Given the description of an element on the screen output the (x, y) to click on. 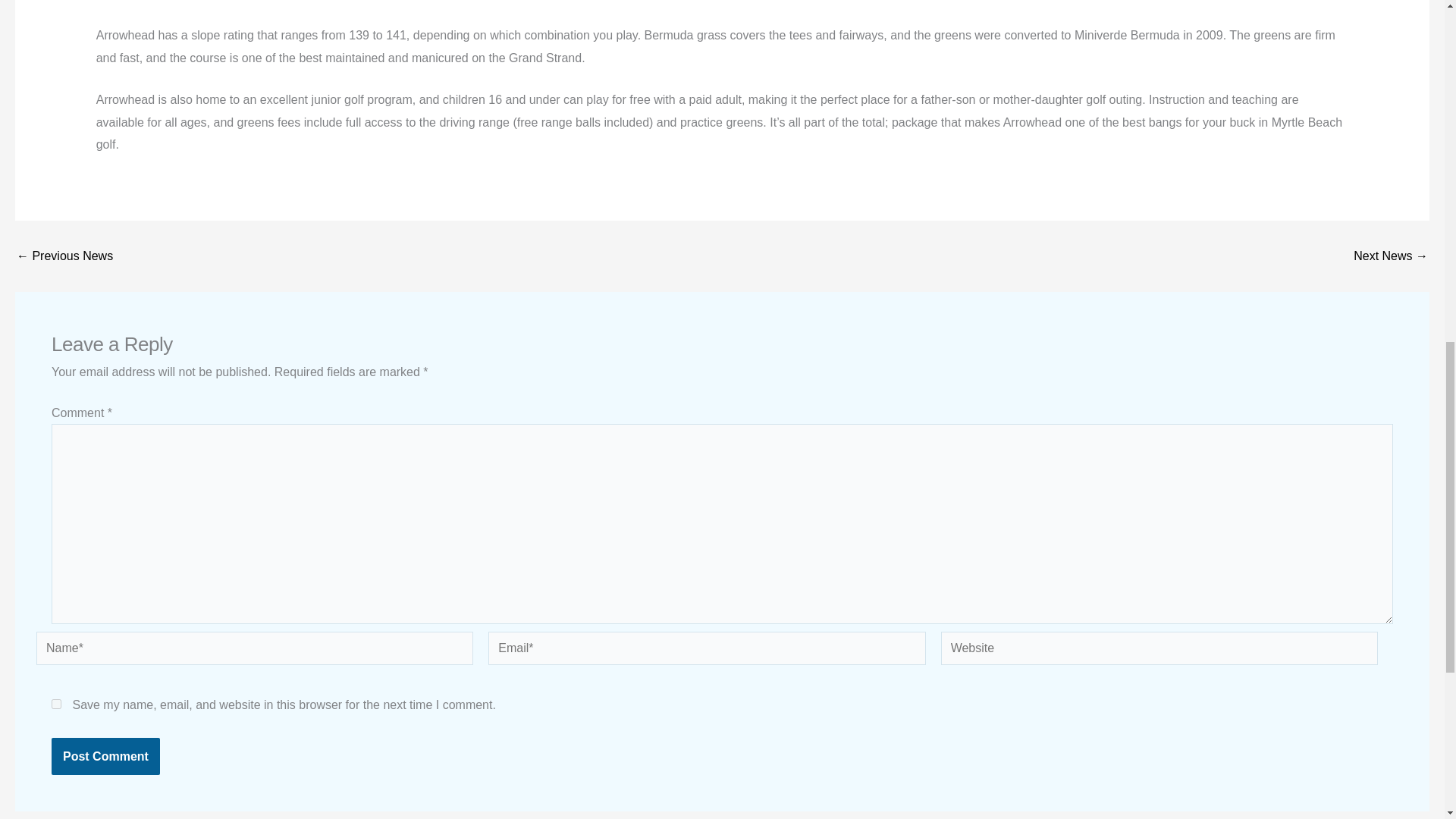
Top 10 Par 5 Golf Holes on the Grand Strand (1391, 256)
Post Comment (105, 756)
Post Comment (105, 756)
yes (55, 704)
